Given the description of an element on the screen output the (x, y) to click on. 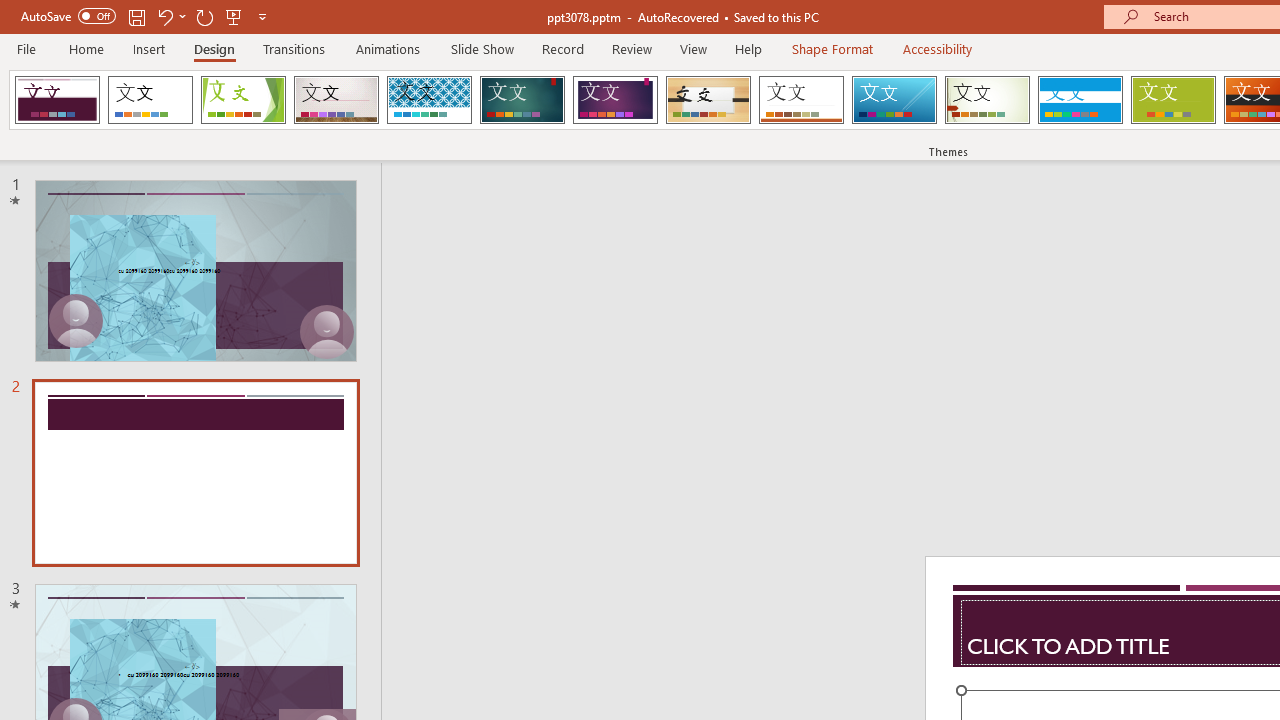
Slice (893, 100)
Berlin (57, 100)
Wisp (987, 100)
Ion Boardroom (615, 100)
